Given the description of an element on the screen output the (x, y) to click on. 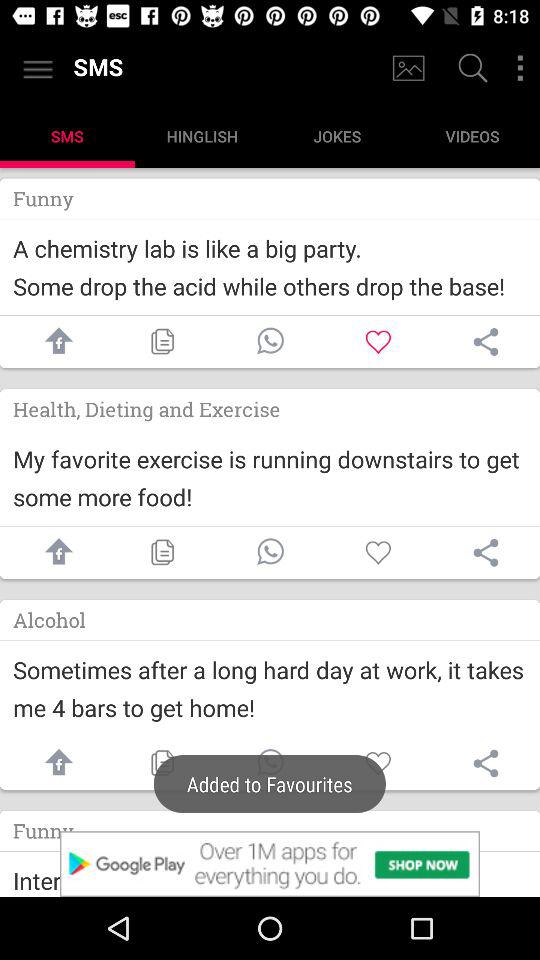
image search (408, 67)
